Given the description of an element on the screen output the (x, y) to click on. 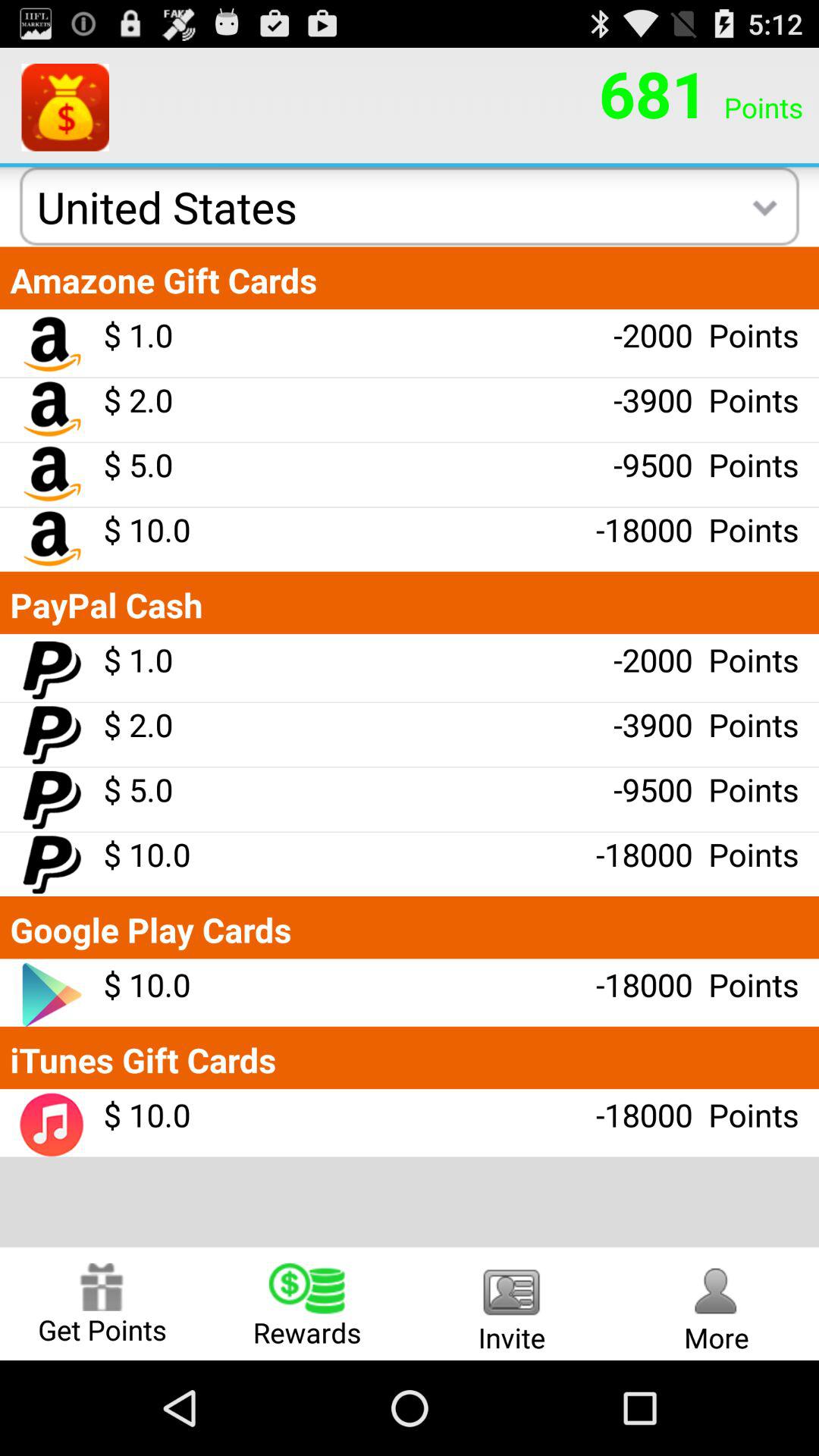
press the icon next to the invite icon (716, 1303)
